Given the description of an element on the screen output the (x, y) to click on. 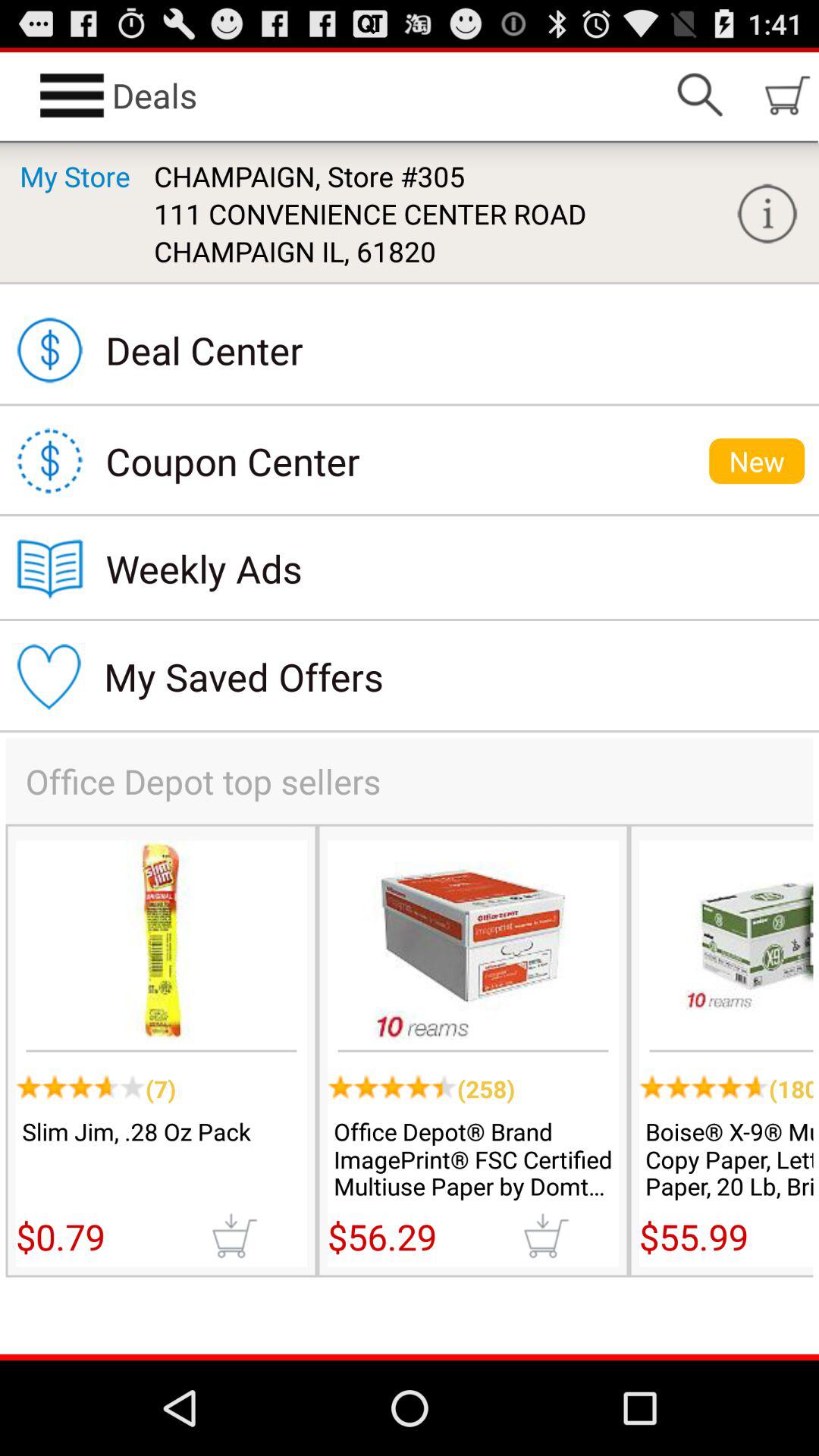
press item above the new (767, 213)
